Given the description of an element on the screen output the (x, y) to click on. 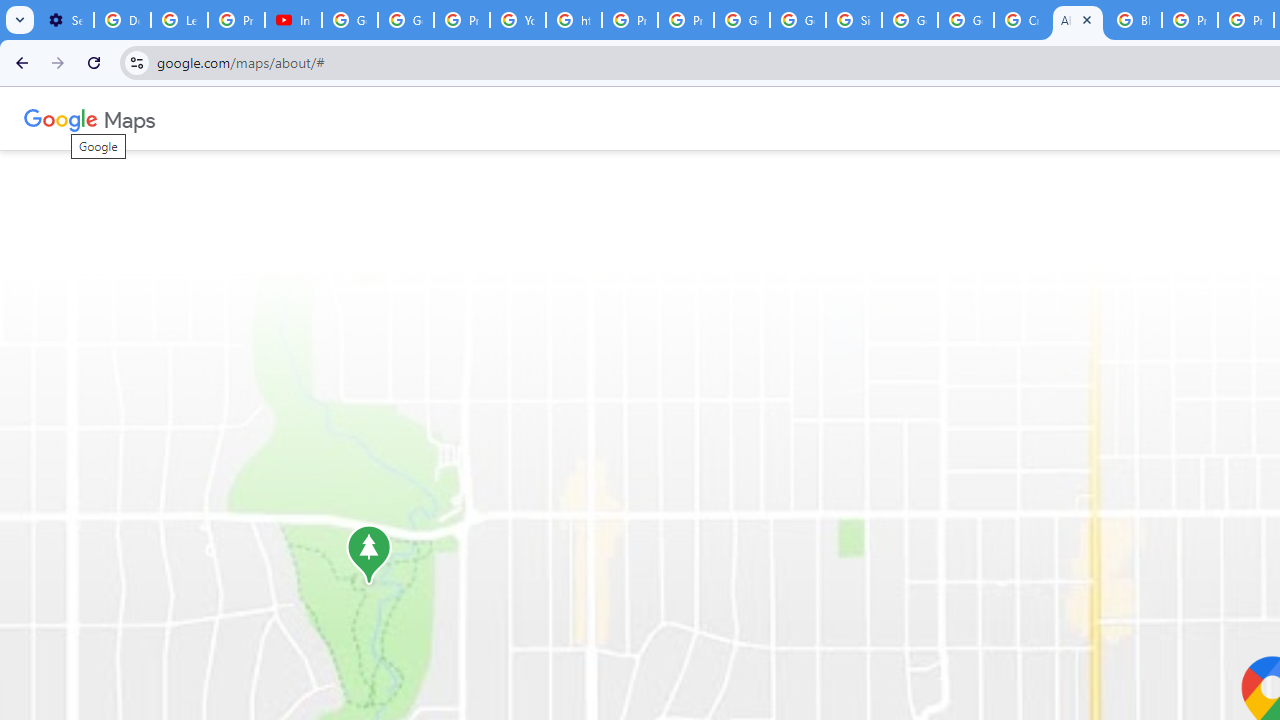
Settings - Customize profile (65, 20)
Maps (129, 118)
Learn how to find your photos - Google Photos Help (179, 20)
Google Account Help (349, 20)
Sign in - Google Accounts (853, 20)
https://scholar.google.com/ (573, 20)
Privacy Help Center - Policies Help (1190, 20)
Create your Google Account (1021, 20)
